Given the description of an element on the screen output the (x, y) to click on. 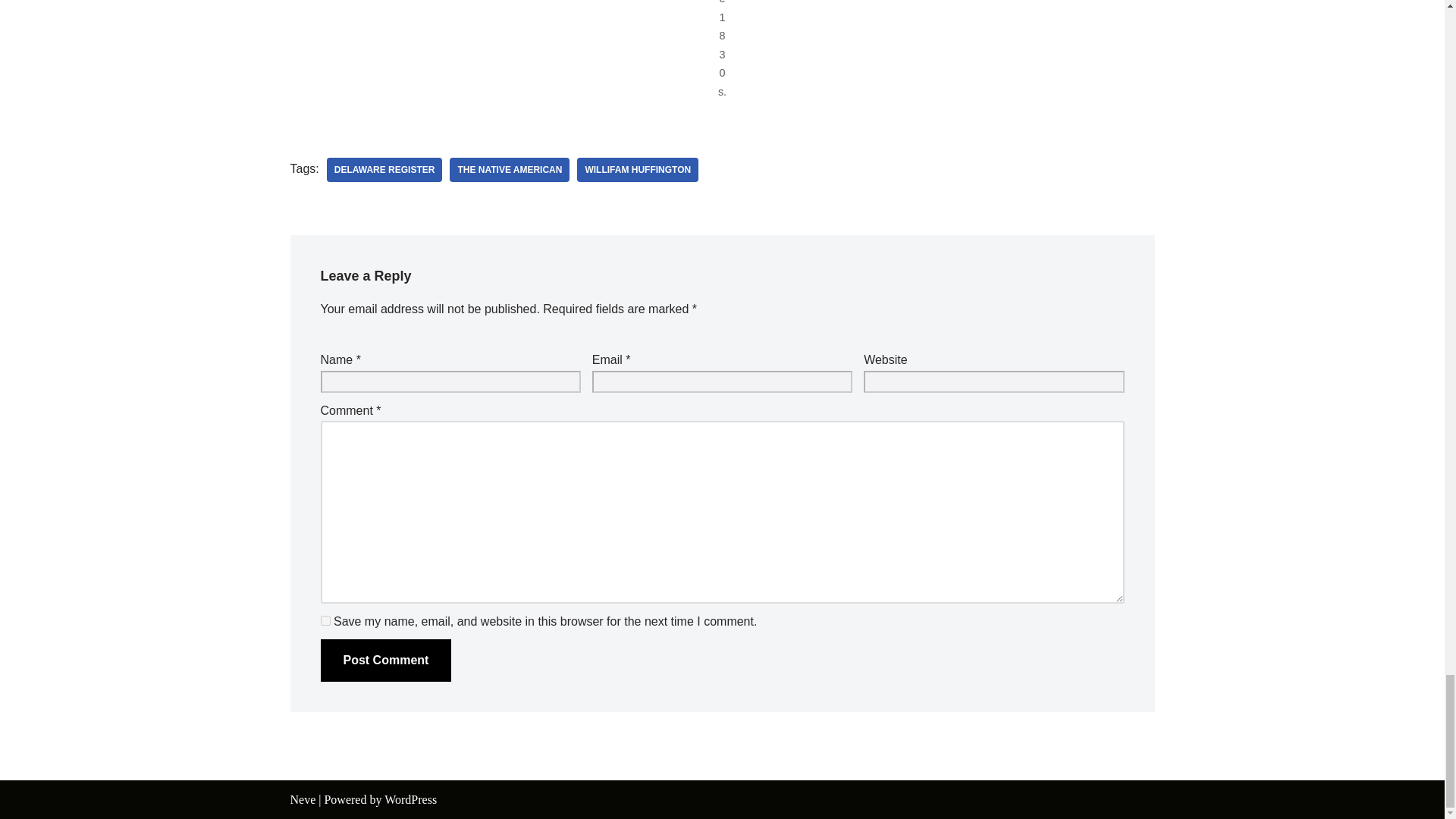
the native american (509, 169)
WILLIFAM HUFFINGTON (637, 169)
Post Comment (385, 660)
Post Comment (385, 660)
willifam huffington (637, 169)
DELAWARE REGISTER (384, 169)
THE NATIVE AMERICAN (509, 169)
Neve (302, 799)
delaware register (384, 169)
yes (325, 620)
